Given the description of an element on the screen output the (x, y) to click on. 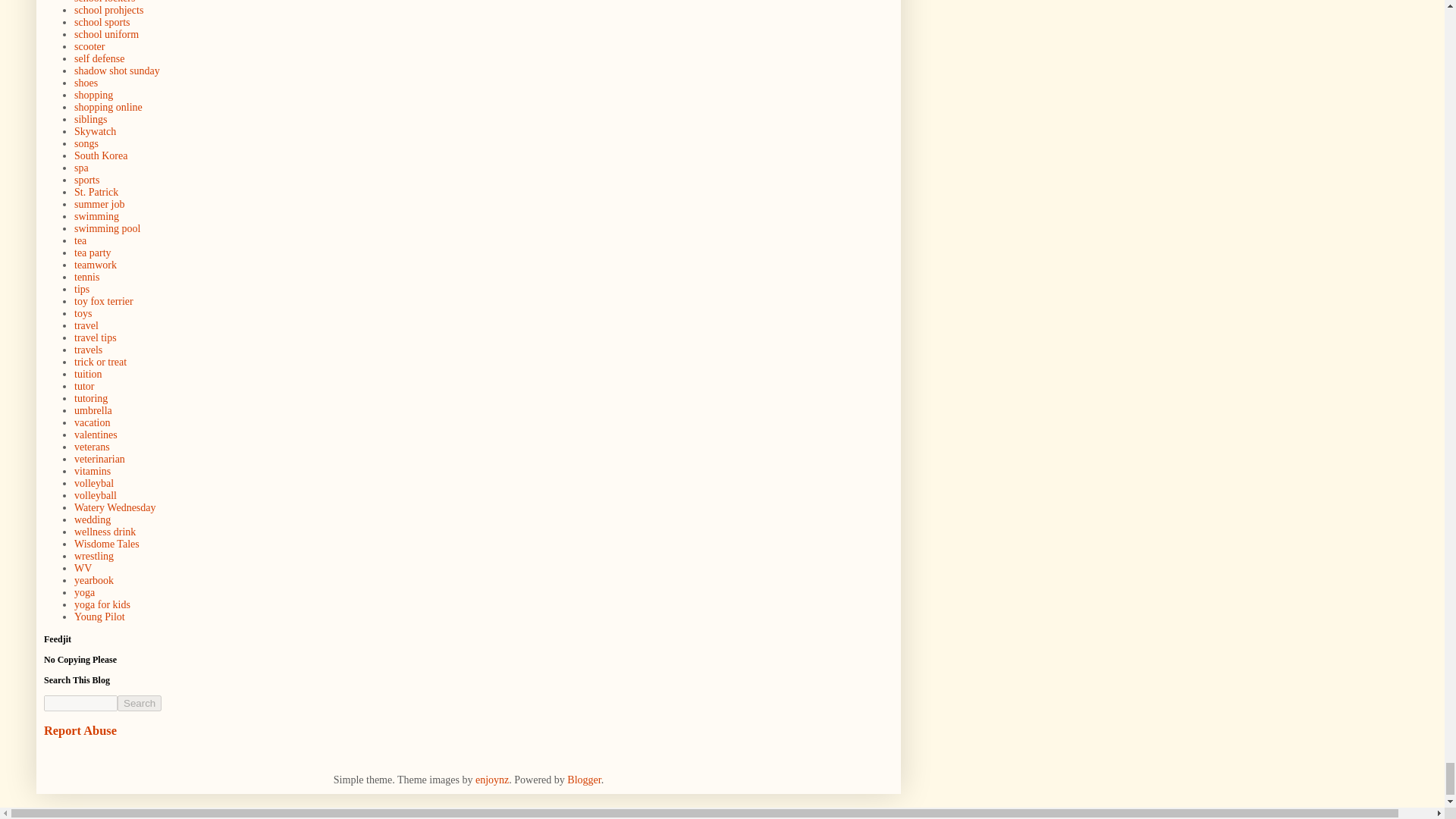
search (139, 703)
Search (139, 703)
search (80, 703)
Search (139, 703)
